Given the description of an element on the screen output the (x, y) to click on. 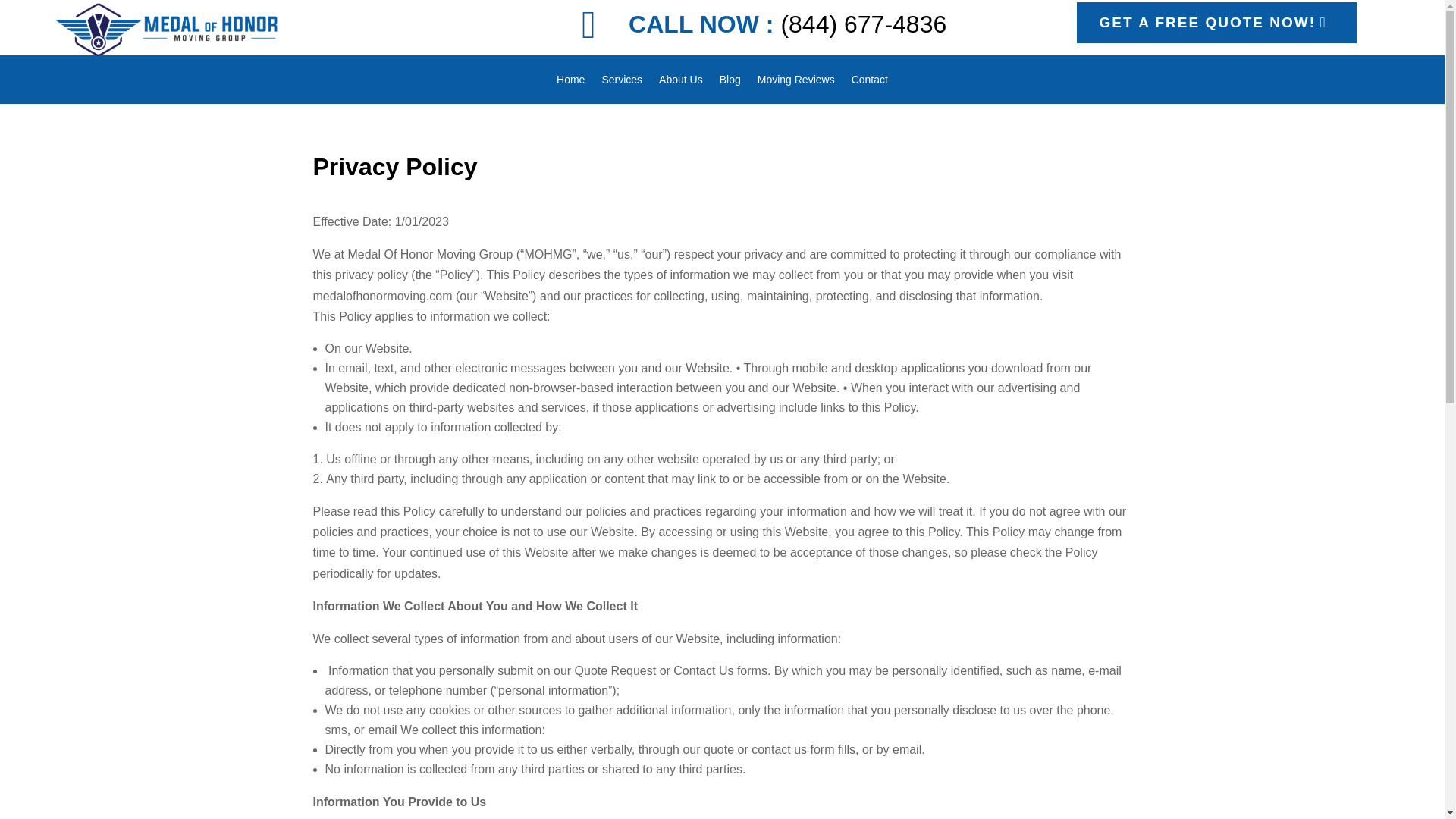
Blog (730, 82)
Home (570, 82)
Contact (869, 82)
Services (621, 82)
GET A FREE QUOTE NOW! (1216, 22)
Moving Reviews (795, 82)
Copy-of-Macks-Movers-5 (133, 21)
About Us (681, 82)
